Given the description of an element on the screen output the (x, y) to click on. 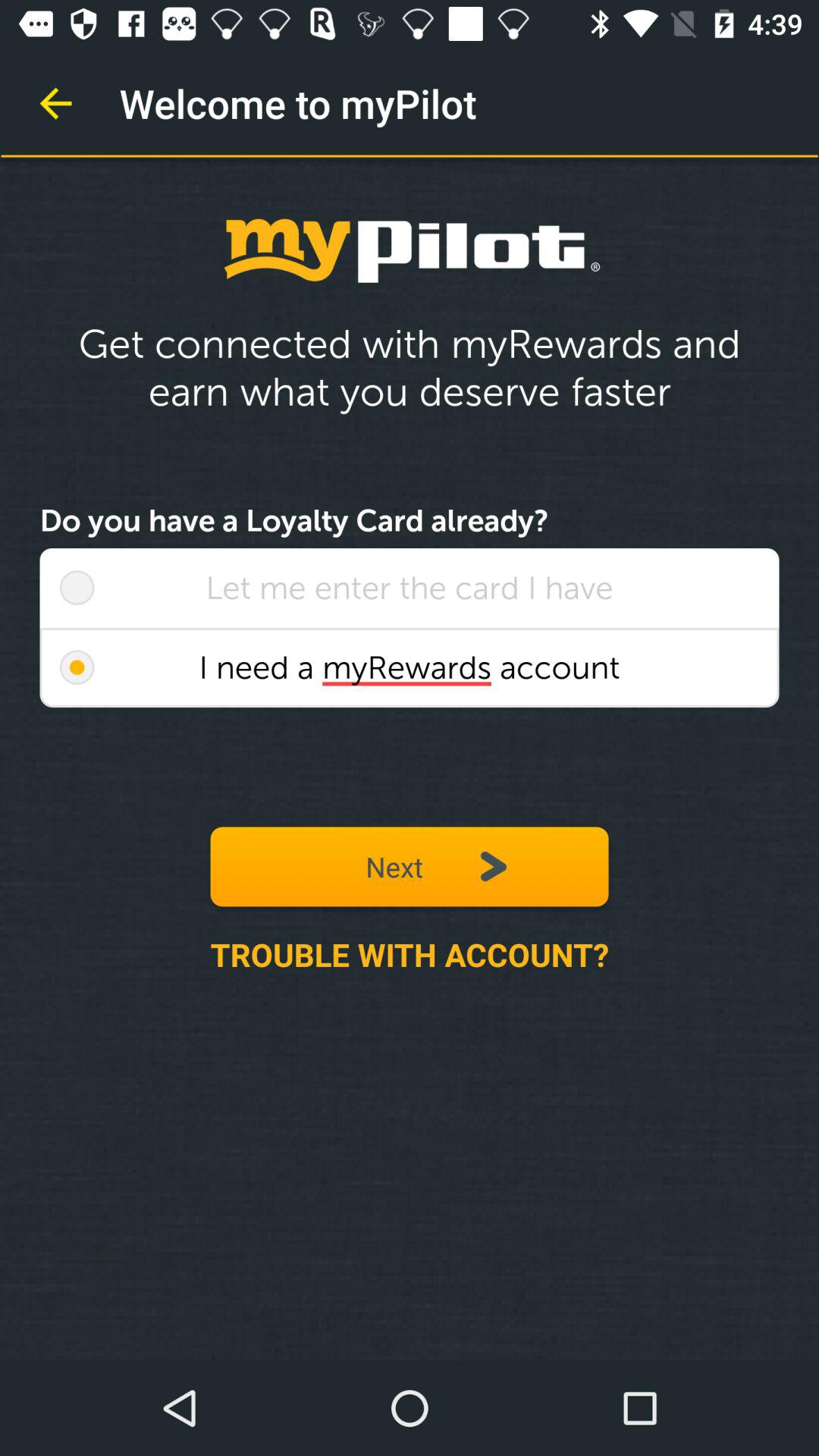
swipe until i need a (409, 667)
